Given the description of an element on the screen output the (x, y) to click on. 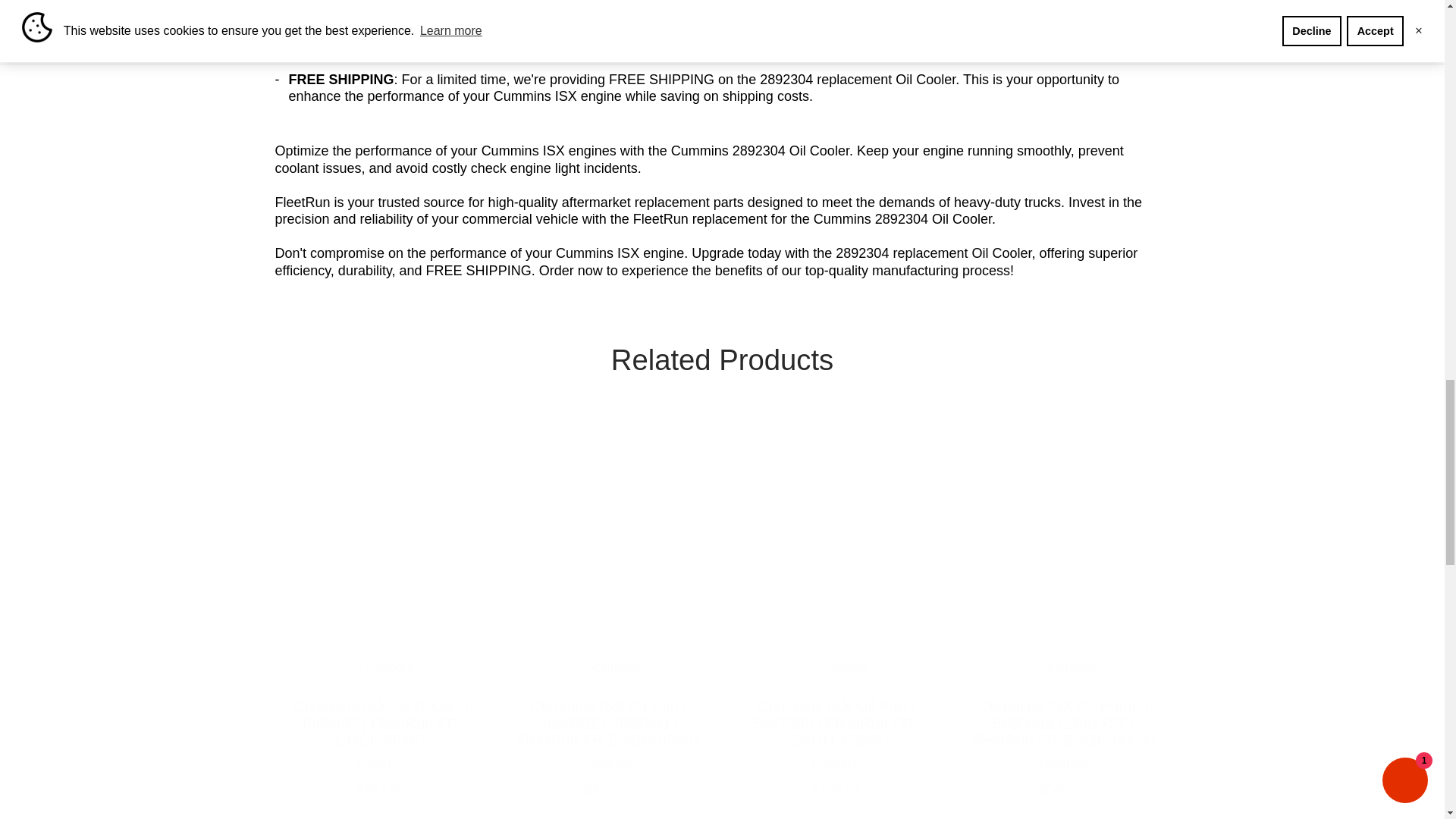
7767521263769 (582, 667)
7774391697561 (1036, 667)
7758822375577 (355, 667)
7767550197913 (809, 667)
